Given the description of an element on the screen output the (x, y) to click on. 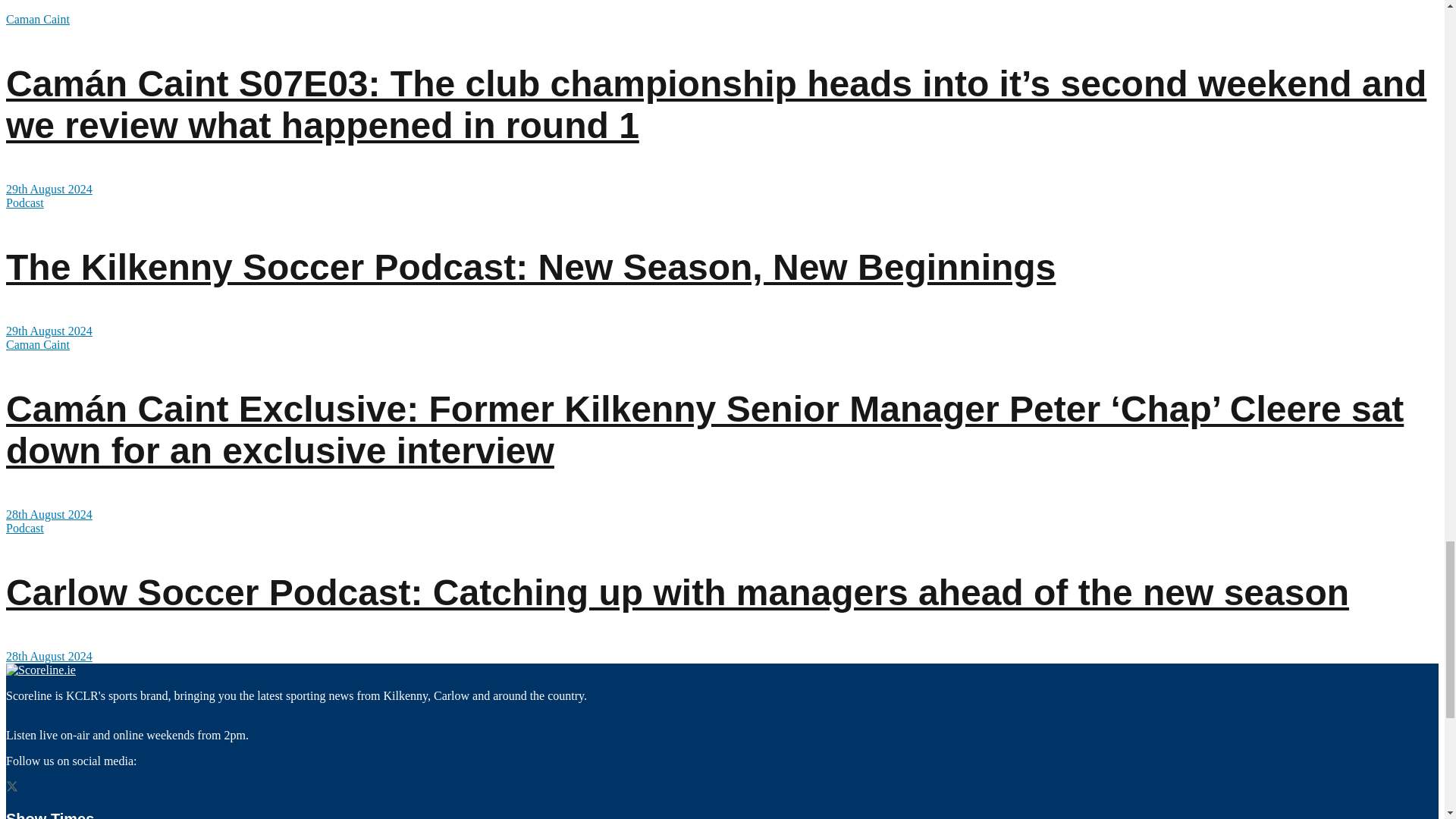
Caman Caint (37, 19)
Podcast (24, 202)
29th August 2024 (49, 188)
